Given the description of an element on the screen output the (x, y) to click on. 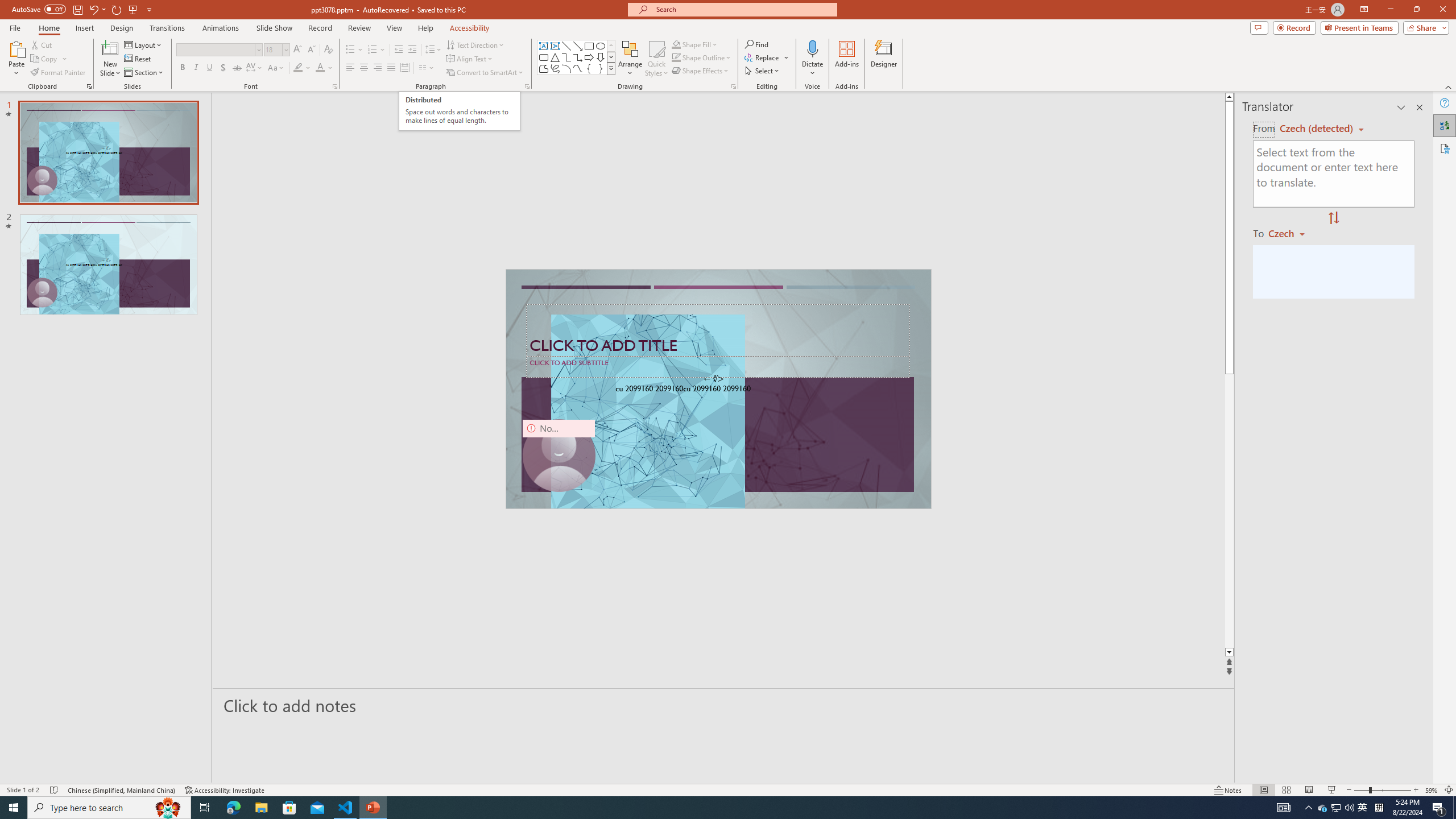
Camera 9, No camera detected. (558, 455)
TextBox 61 (717, 389)
